Given the description of an element on the screen output the (x, y) to click on. 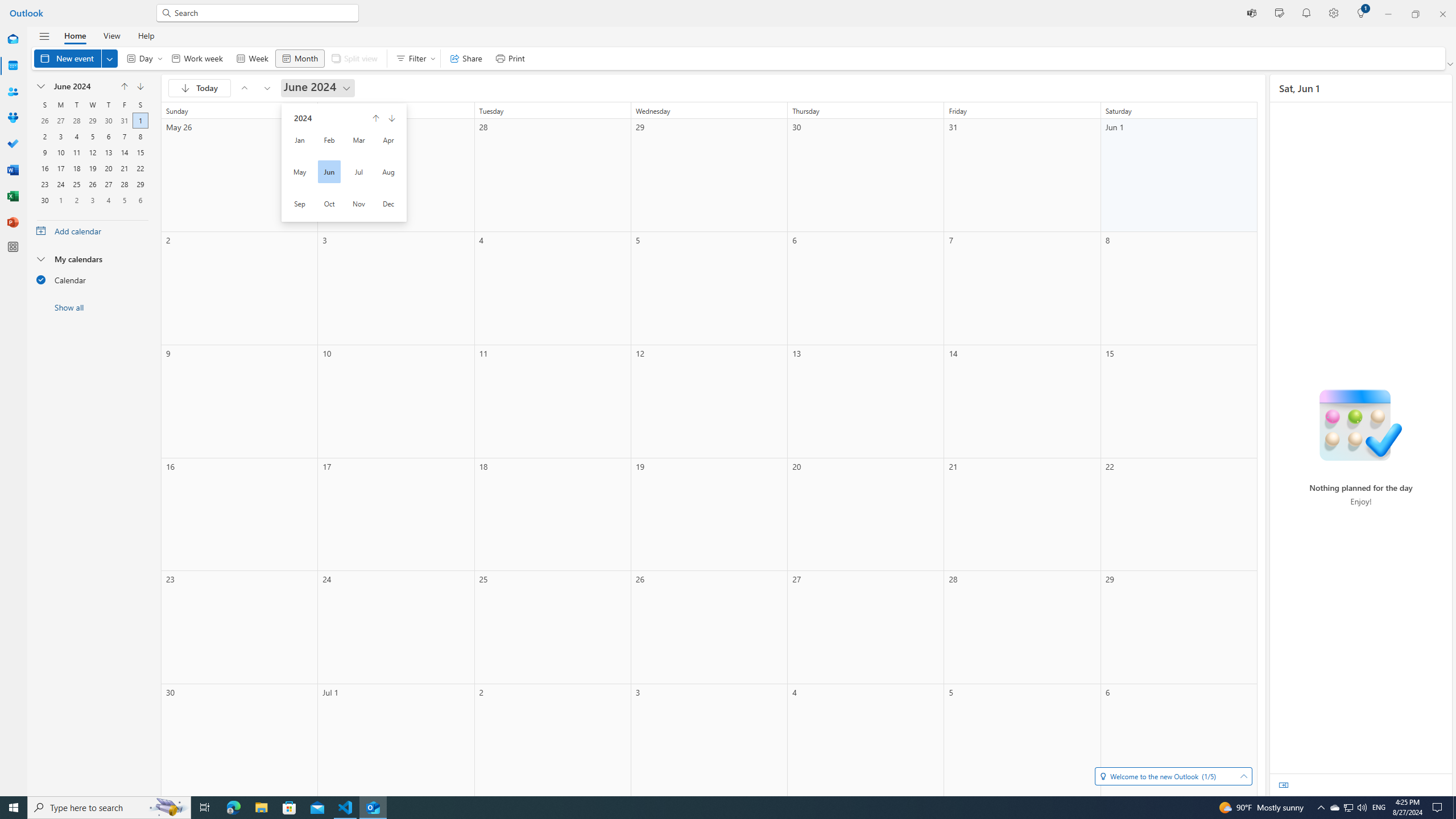
Monday (60, 104)
21, June, 2024 (124, 167)
3, July, 2024 (92, 198)
15, June, 2024 (140, 151)
4, June, 2024 (75, 135)
Expand to see more Day options (159, 58)
1, July, 2024 (59, 199)
24, June, 2024 (59, 183)
My calendars (92, 258)
27, June, 2024 (108, 183)
3, June, 2024 (59, 135)
Hide navigation pane (44, 36)
19, June, 2024 (92, 167)
28, June, 2024 (124, 183)
